Given the description of an element on the screen output the (x, y) to click on. 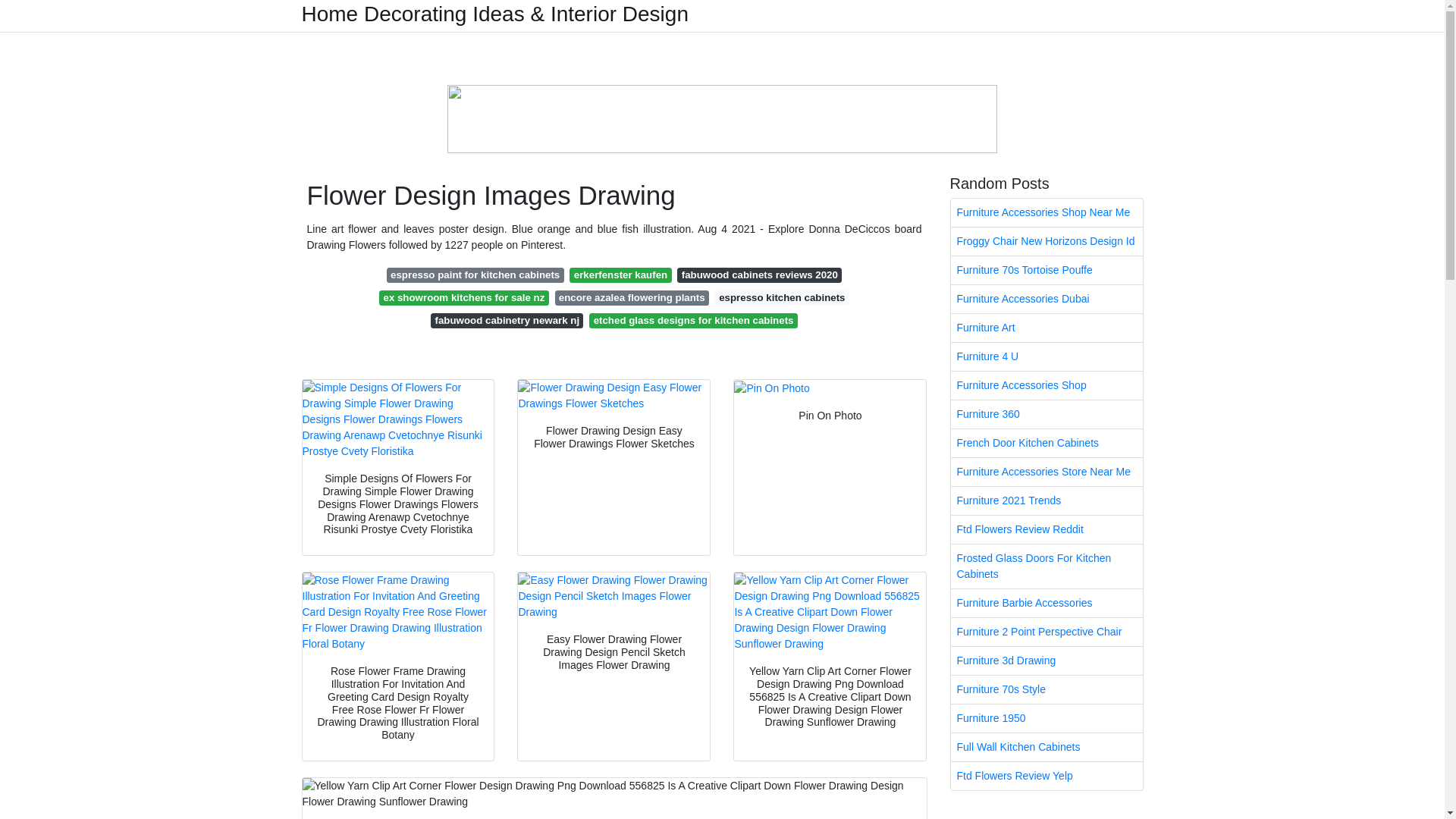
Furniture 360 (1046, 414)
Furniture Art (1046, 327)
Furniture Accessories Shop (1046, 385)
Froggy Chair New Horizons Design Id (1046, 241)
encore azalea flowering plants (632, 297)
espresso paint for kitchen cabinets (475, 274)
fabuwood cabinets reviews 2020 (759, 274)
erkerfenster kaufen (620, 274)
Furniture Accessories Dubai (1046, 298)
etched glass designs for kitchen cabinets (692, 320)
Furniture Accessories Shop Near Me (1046, 212)
espresso kitchen cabinets (781, 297)
Furniture 4 U (1046, 357)
French Door Kitchen Cabinets (1046, 443)
fabuwood cabinetry newark nj (506, 320)
